Given the description of an element on the screen output the (x, y) to click on. 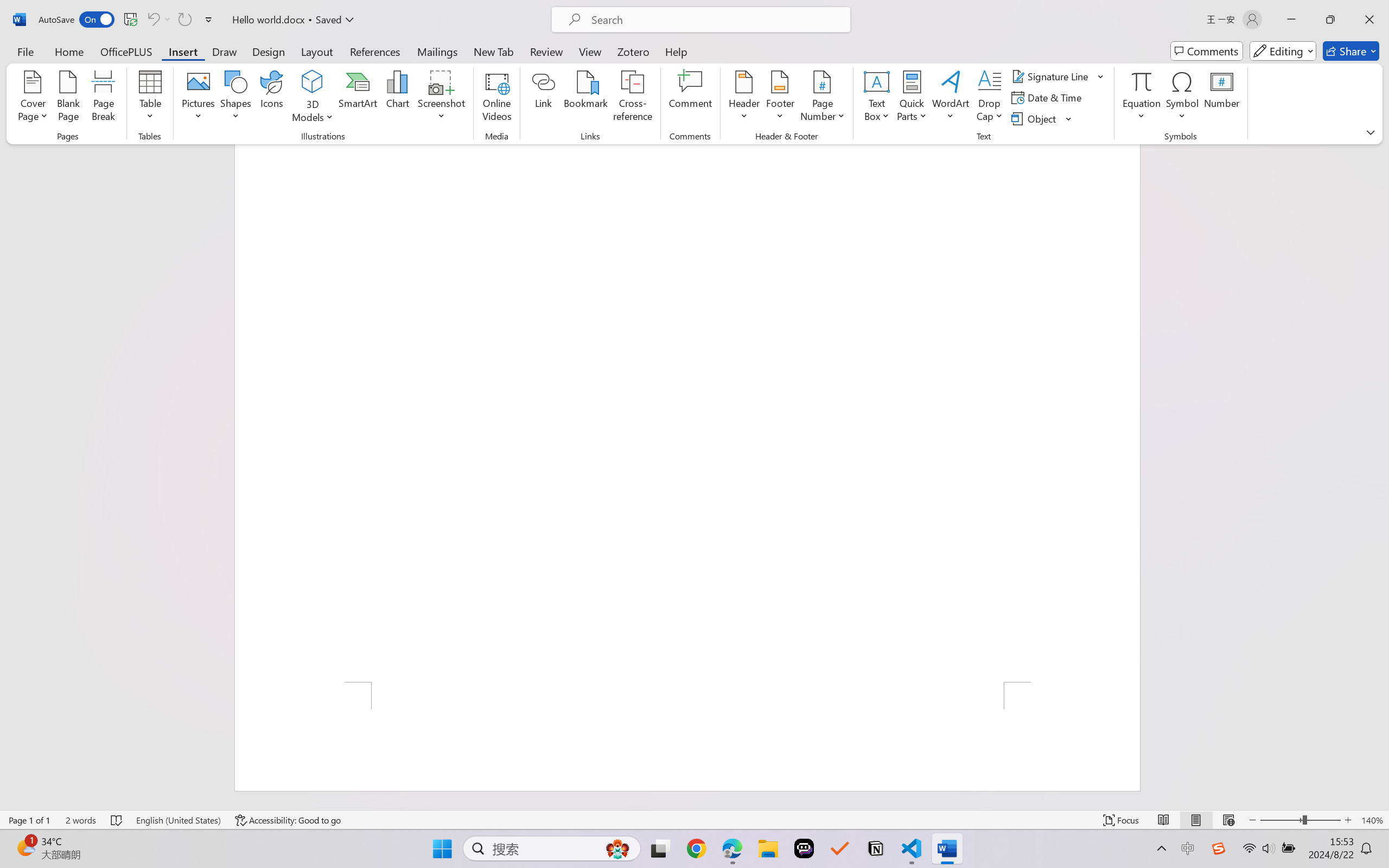
AutomationID: BadgeAnchorLargeTicker (24, 847)
New Tab (493, 51)
Page Number Page 1 of 1 (29, 819)
Layout (316, 51)
AutomationID: DynamicSearchBoxGleamImage (617, 848)
Can't Repeat (184, 19)
Save (130, 19)
